Given the description of an element on the screen output the (x, y) to click on. 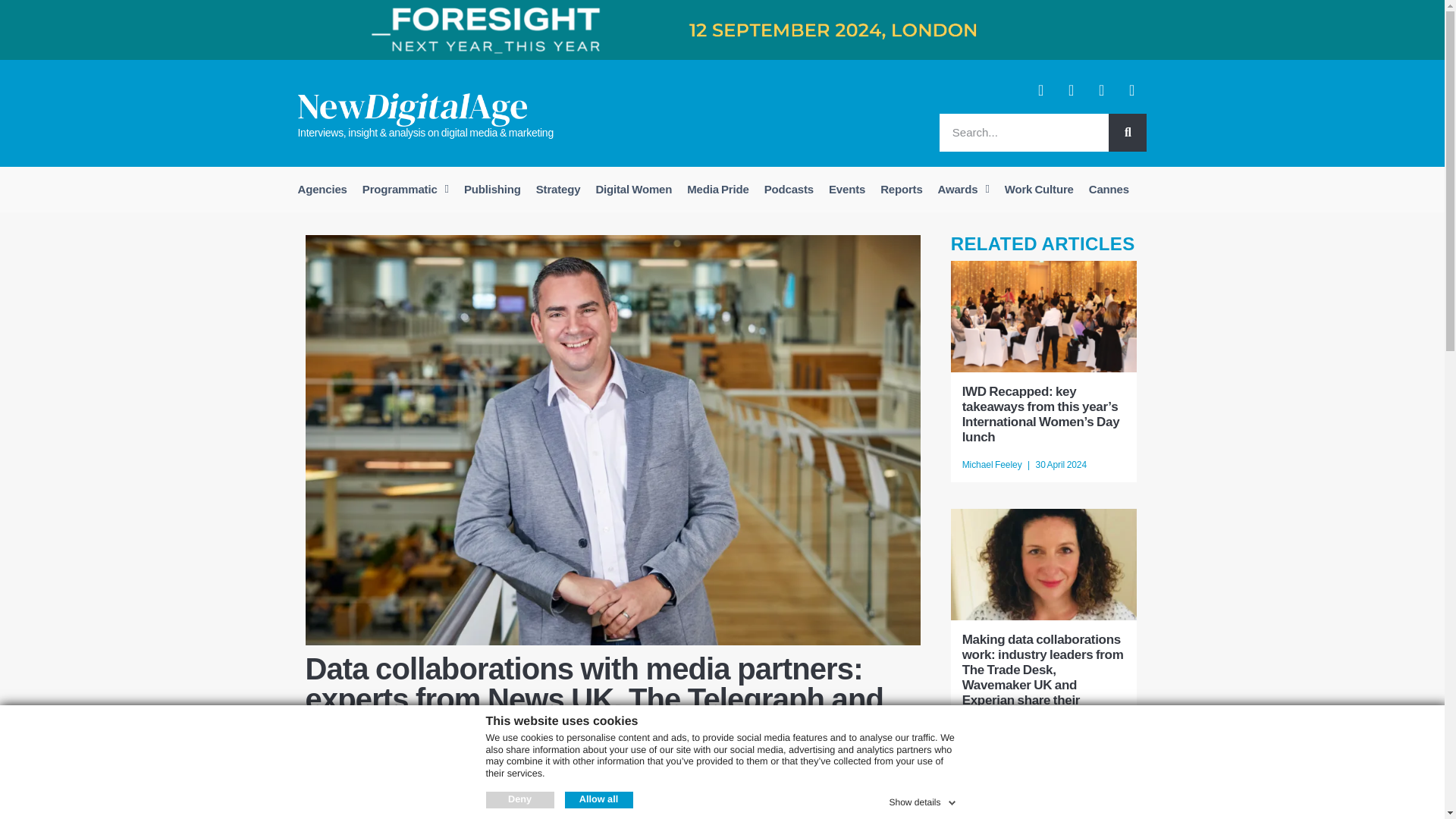
Deny (518, 799)
Show details (923, 799)
Allow all (597, 799)
